Given the description of an element on the screen output the (x, y) to click on. 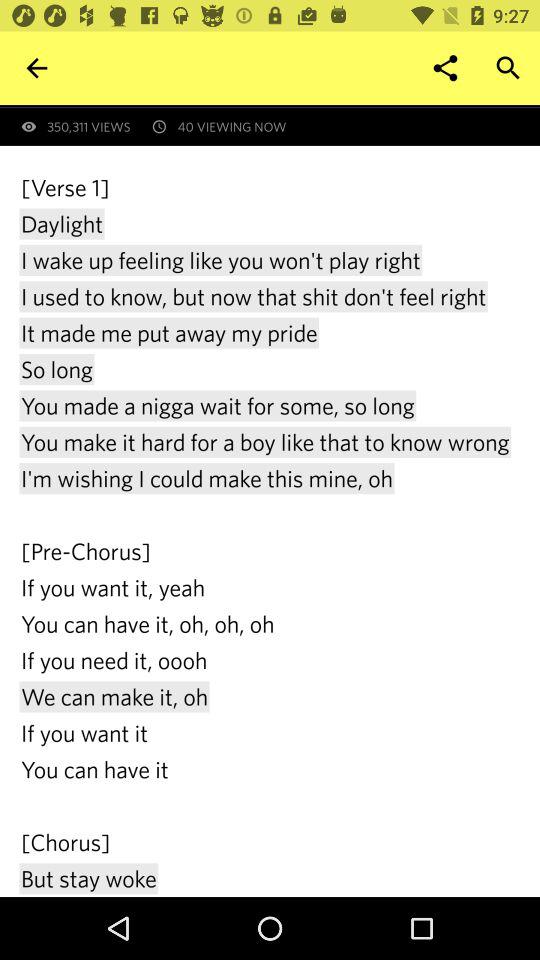
press item to the left of the 40 viewing now (36, 68)
